Given the description of an element on the screen output the (x, y) to click on. 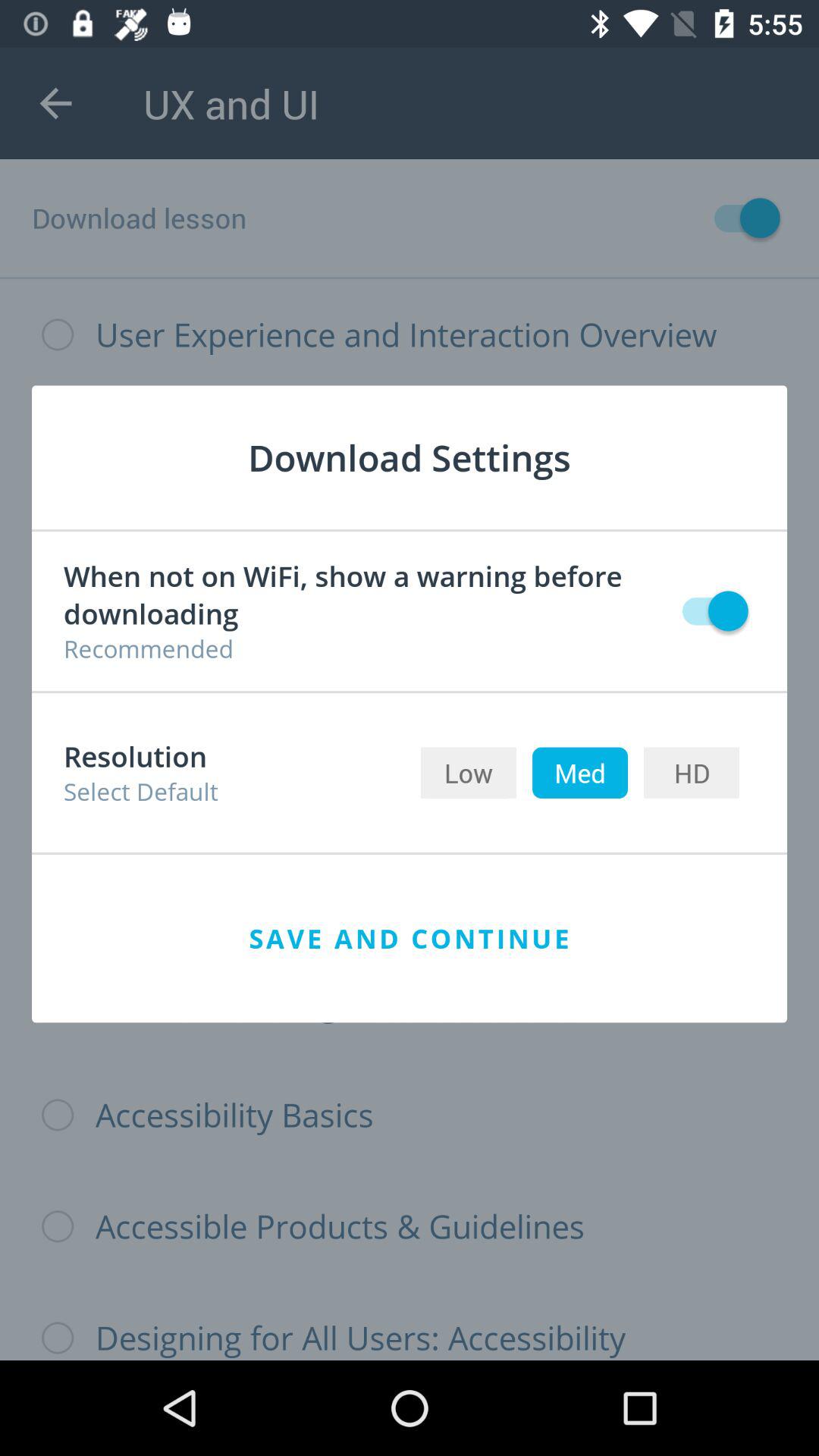
deselect setting (707, 611)
